Given the description of an element on the screen output the (x, y) to click on. 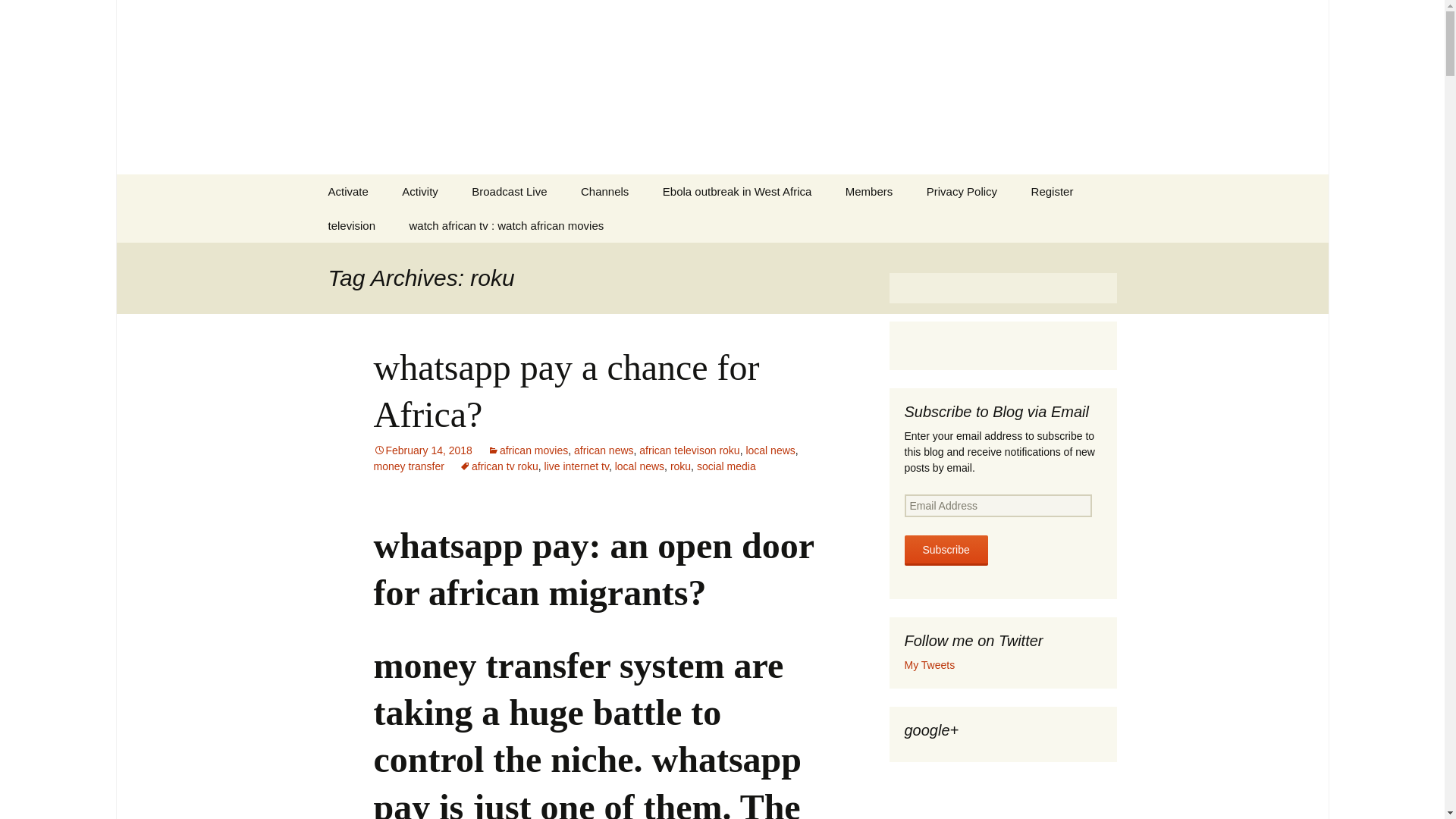
Permalink to whatsapp pay a chance for Africa? (421, 450)
african news (603, 450)
african tv roku (499, 466)
african televison roku (689, 450)
african movies (527, 450)
local news (769, 450)
Search (18, 15)
watch african tv : watch african movies (507, 225)
television (351, 225)
Close (1046, 26)
Africa24 en direct (388, 259)
Broadcast Live (509, 191)
Register (1052, 191)
